Given the description of an element on the screen output the (x, y) to click on. 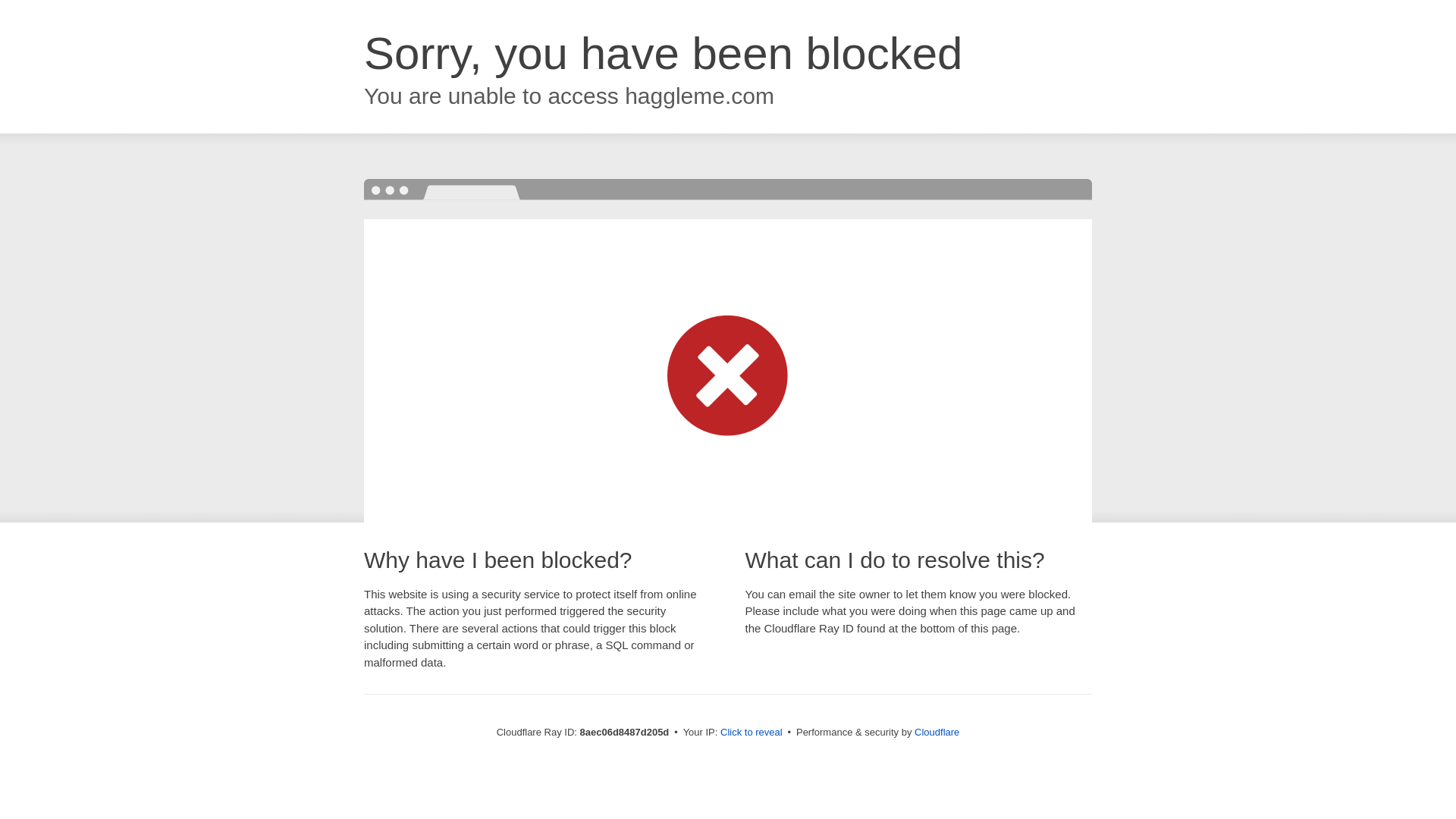
Cloudflare (936, 731)
Click to reveal (751, 732)
